Given the description of an element on the screen output the (x, y) to click on. 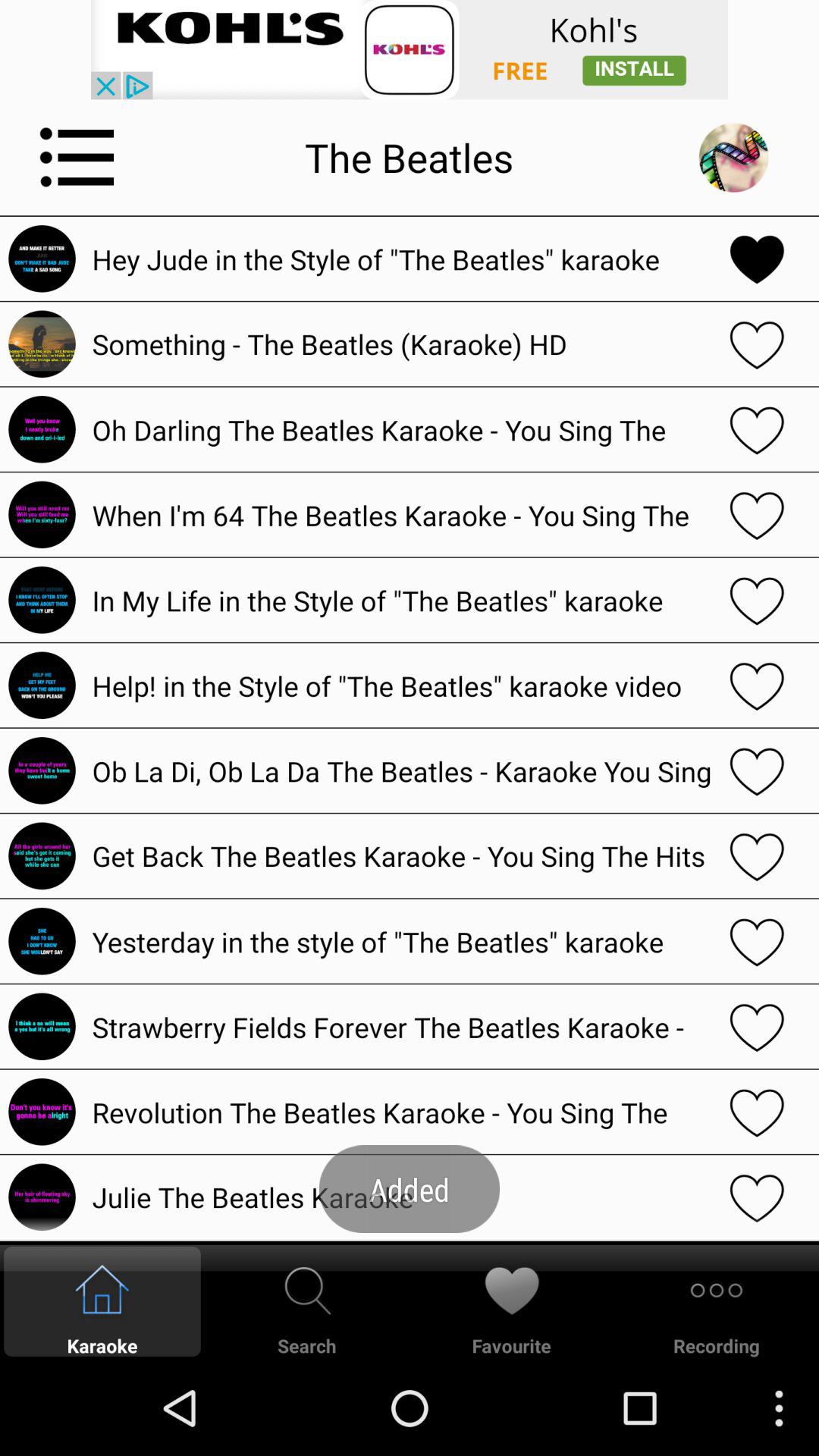
add to favorites (756, 685)
